Given the description of an element on the screen output the (x, y) to click on. 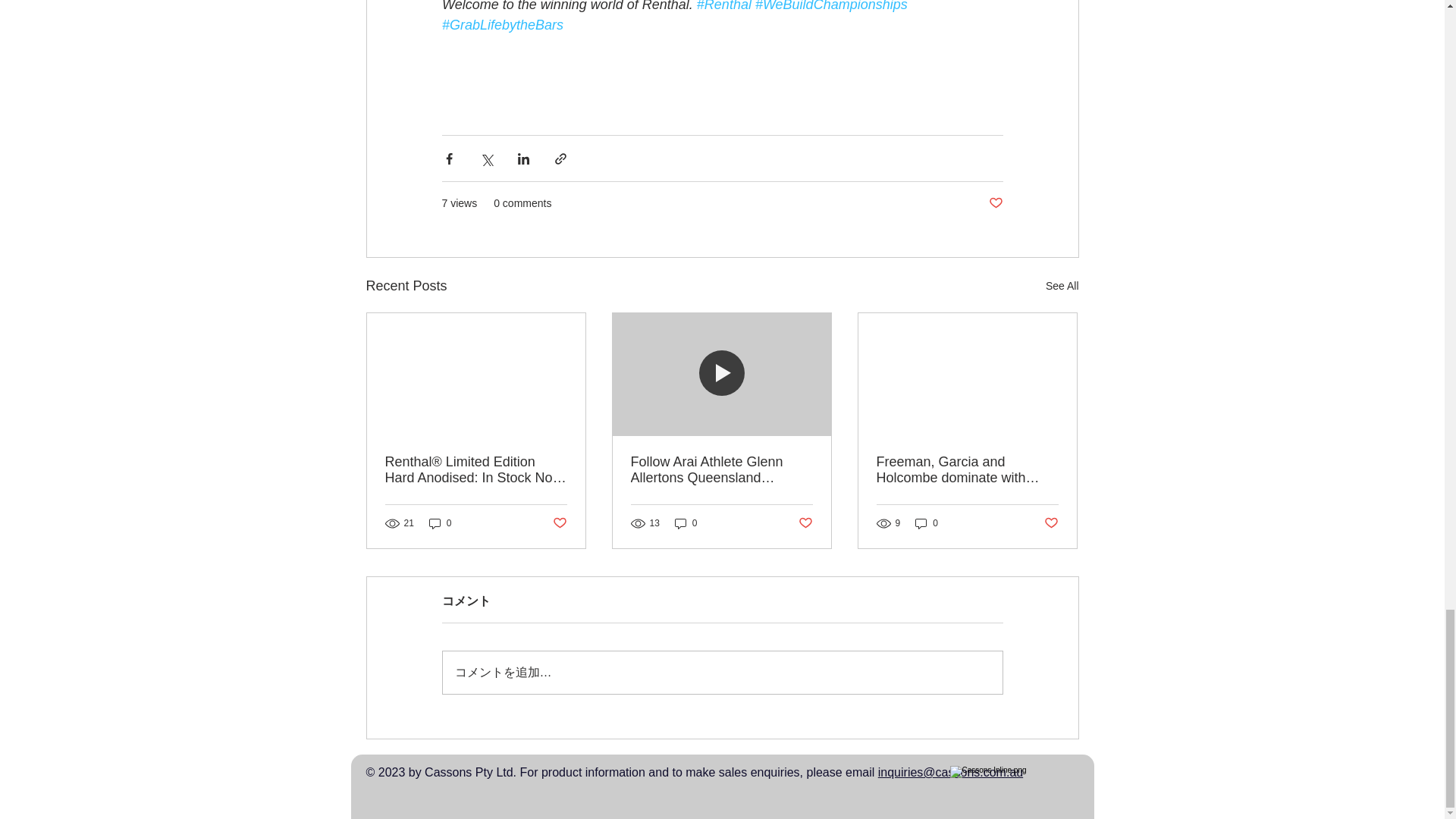
Post not marked as liked (995, 203)
0 (440, 523)
Post not marked as liked (558, 523)
See All (1061, 286)
0 (685, 523)
